Given the description of an element on the screen output the (x, y) to click on. 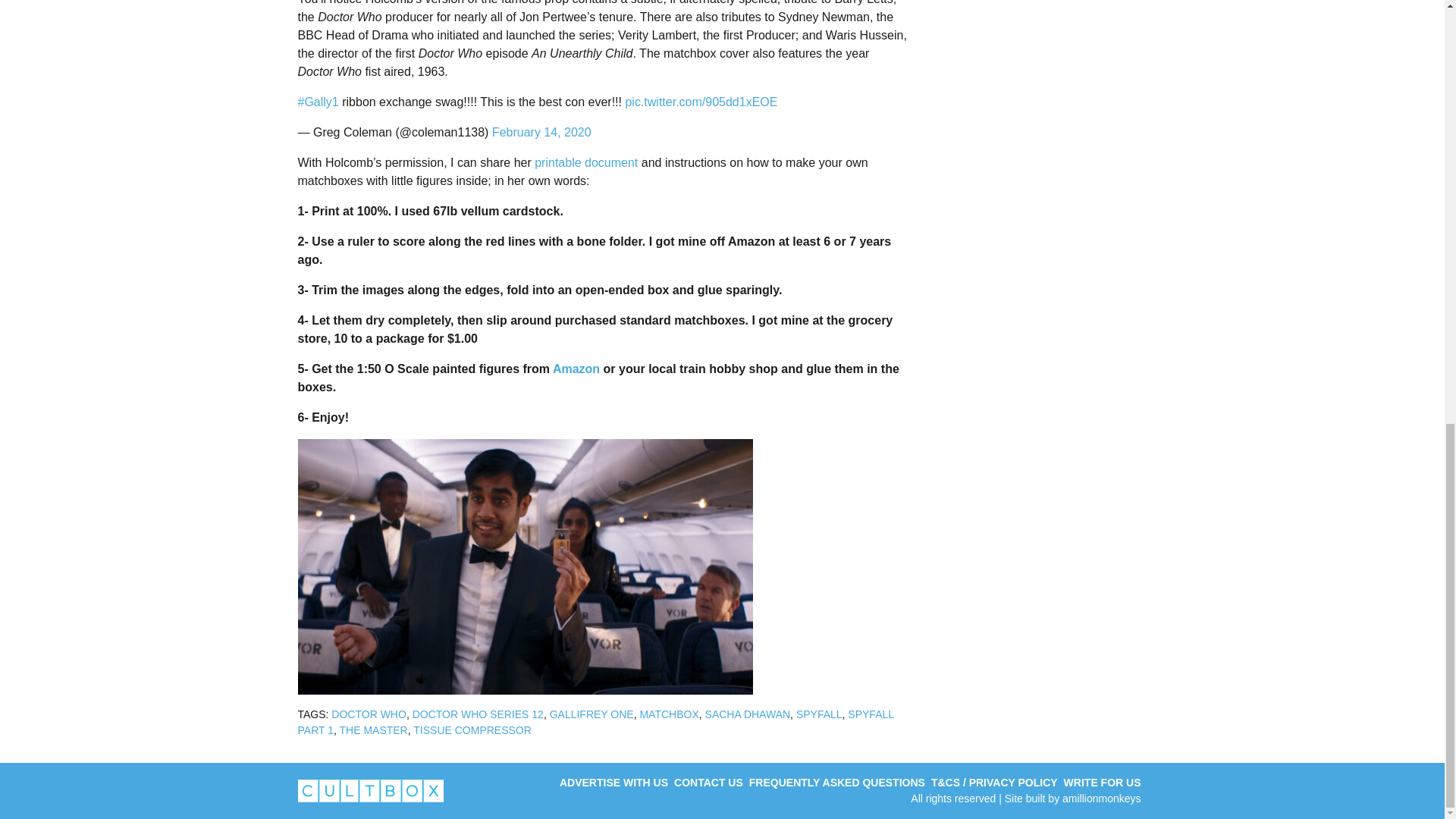
DOCTOR WHO SERIES 12 (477, 714)
printable document (585, 162)
SACHA DHAWAN (747, 714)
TISSUE COMPRESSOR (472, 729)
THE MASTER (373, 729)
February 14, 2020 (541, 132)
Amazon (576, 368)
SPYFALL (819, 714)
MATCHBOX (668, 714)
DOCTOR WHO (368, 714)
GALLIFREY ONE (591, 714)
SPYFALL PART 1 (595, 722)
